Given the description of an element on the screen output the (x, y) to click on. 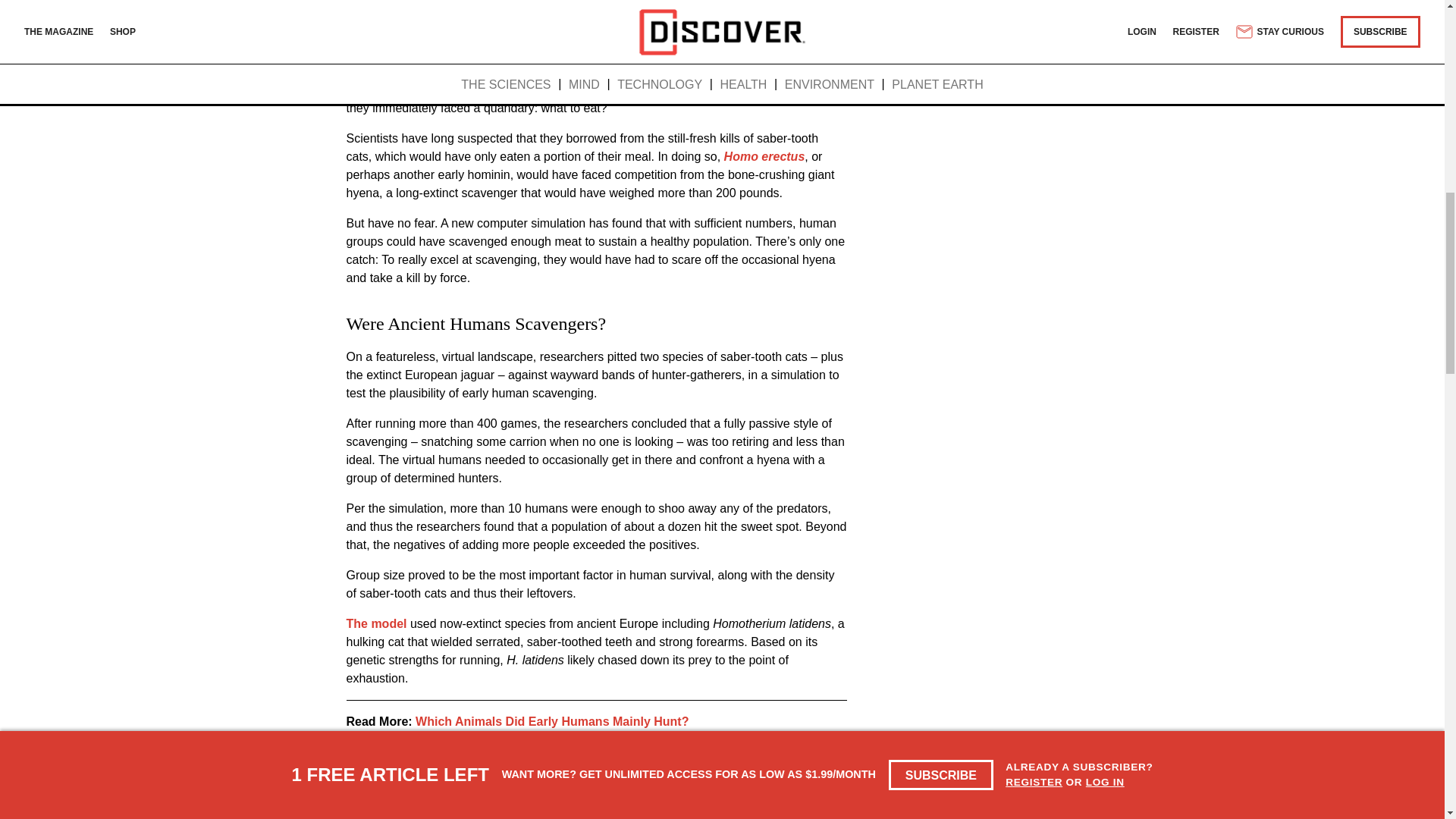
Homo erectus (764, 155)
Which Animals Did Early Humans Mainly Hunt? (551, 721)
The model (376, 623)
SIGN UP (811, 26)
